Given the description of an element on the screen output the (x, y) to click on. 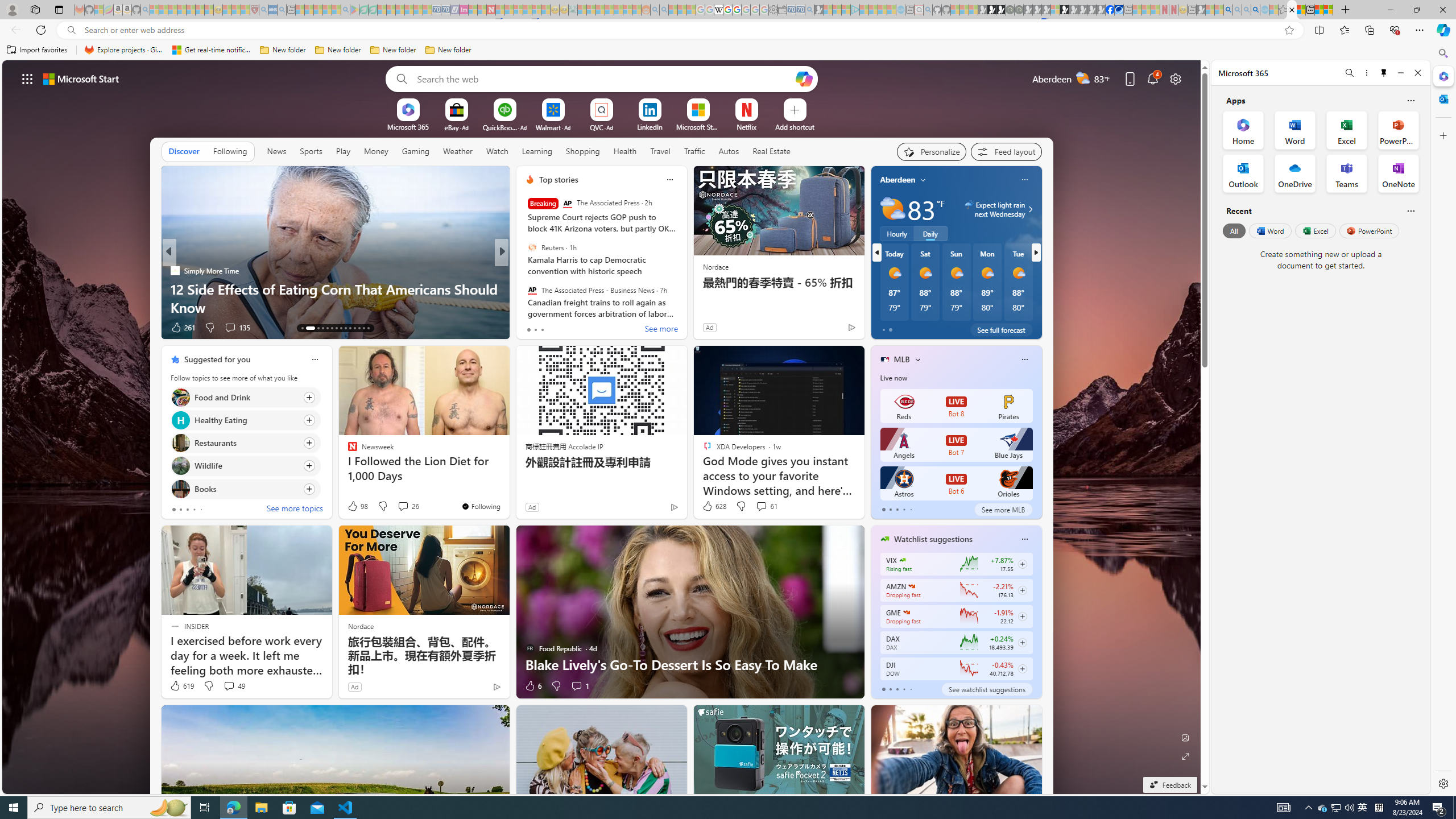
186 Like (532, 327)
The Best Time to Go to Bed According to Your Age (684, 307)
View comments 6 Comment (576, 327)
14 Common Myths Debunked By Scientific Facts - Sleeping (508, 9)
Dagens News (US) (524, 288)
See more topics (294, 509)
659 Like (532, 327)
View comments 3 Comment (576, 327)
AutomationID: backgroundImagePicture (601, 426)
